Given the description of an element on the screen output the (x, y) to click on. 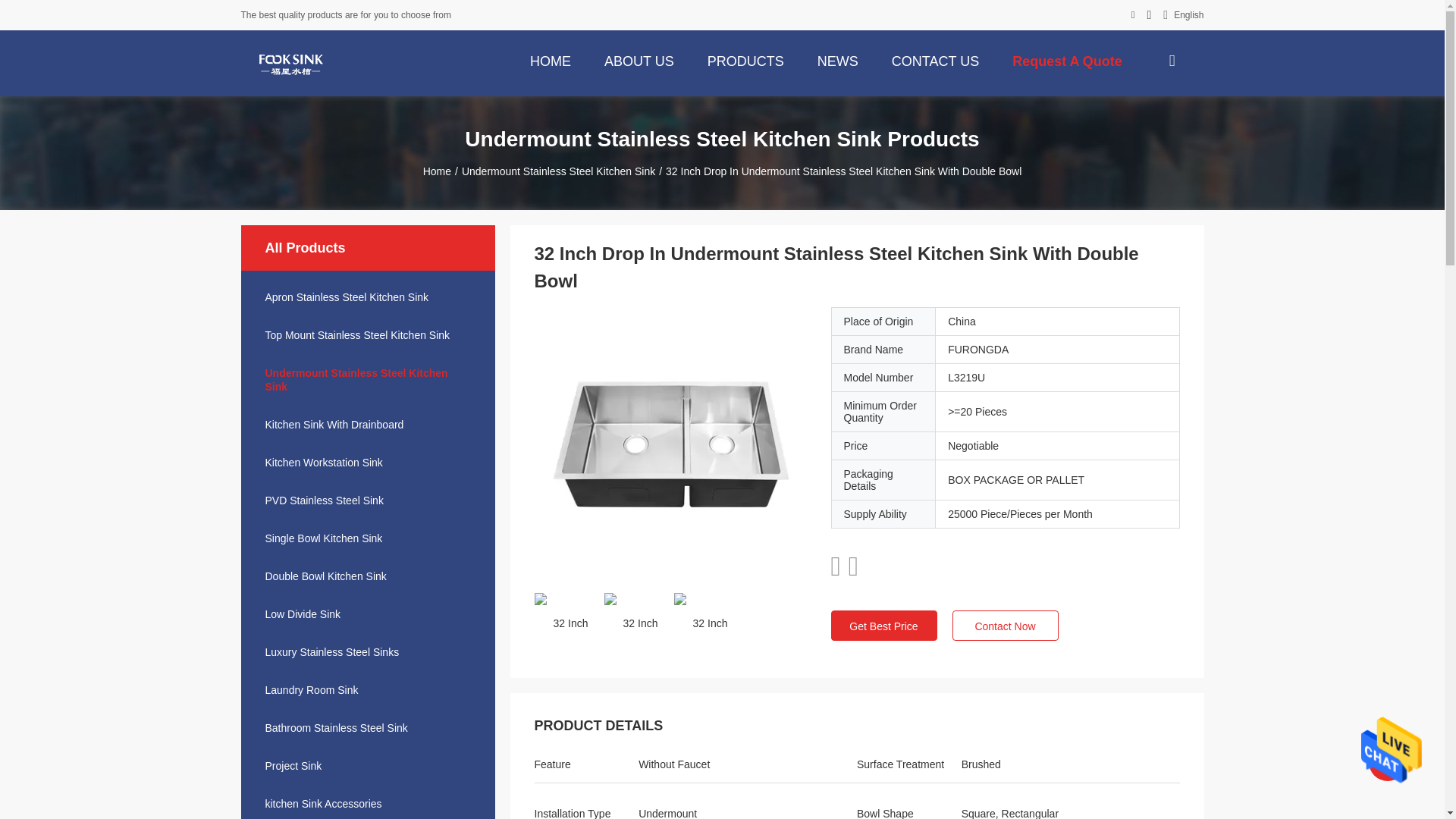
Jiangmen Furongda Stainless Steel Products Factory (289, 63)
HOME (550, 60)
ABOUT US (638, 60)
PRODUCTS (745, 60)
